Given the description of an element on the screen output the (x, y) to click on. 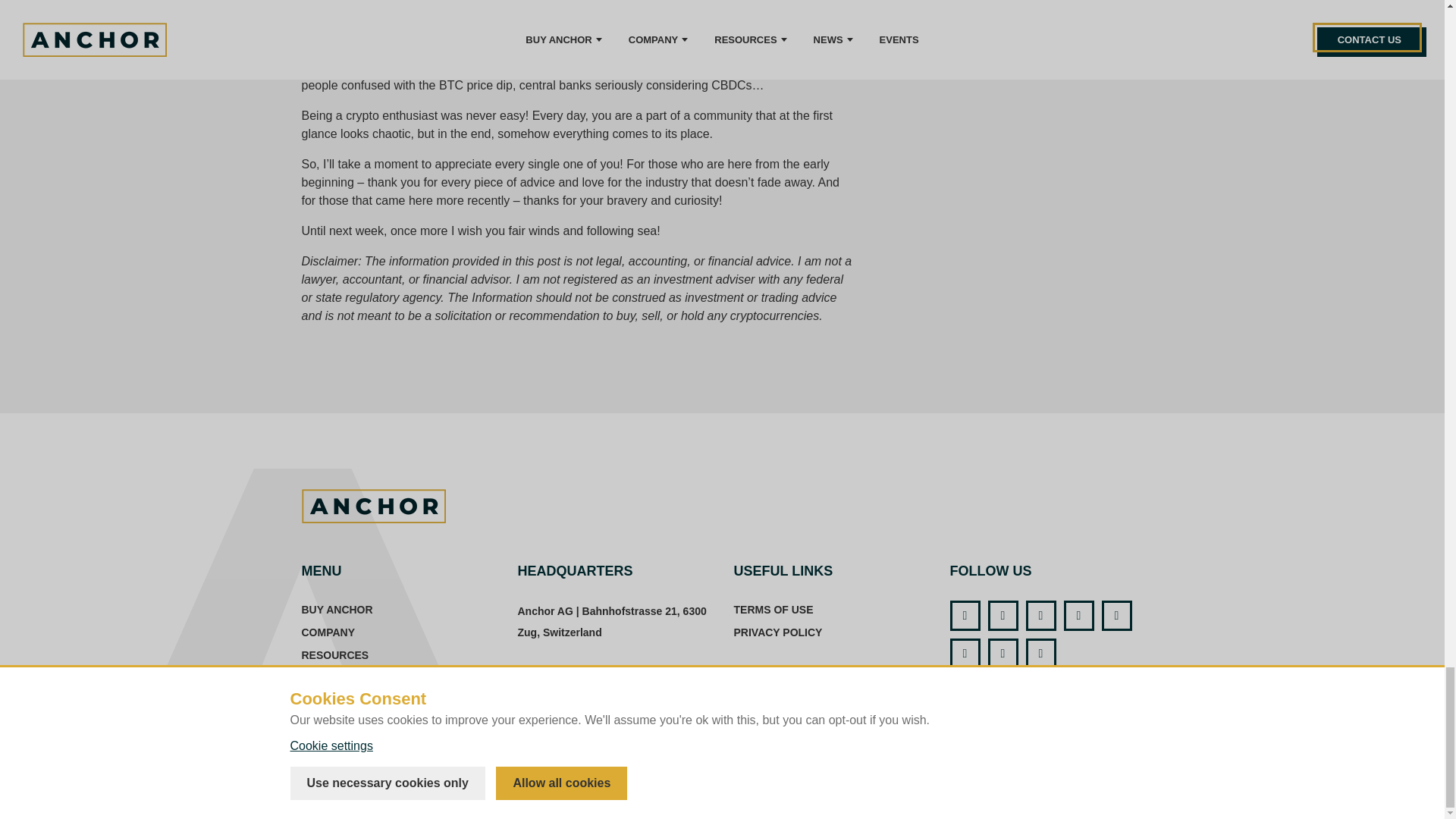
Quora (964, 653)
Telegram (1115, 615)
Facebook (964, 615)
LinkedIn (1077, 615)
Twitter (1002, 615)
Medium (1002, 653)
reddit (1040, 615)
